Given the description of an element on the screen output the (x, y) to click on. 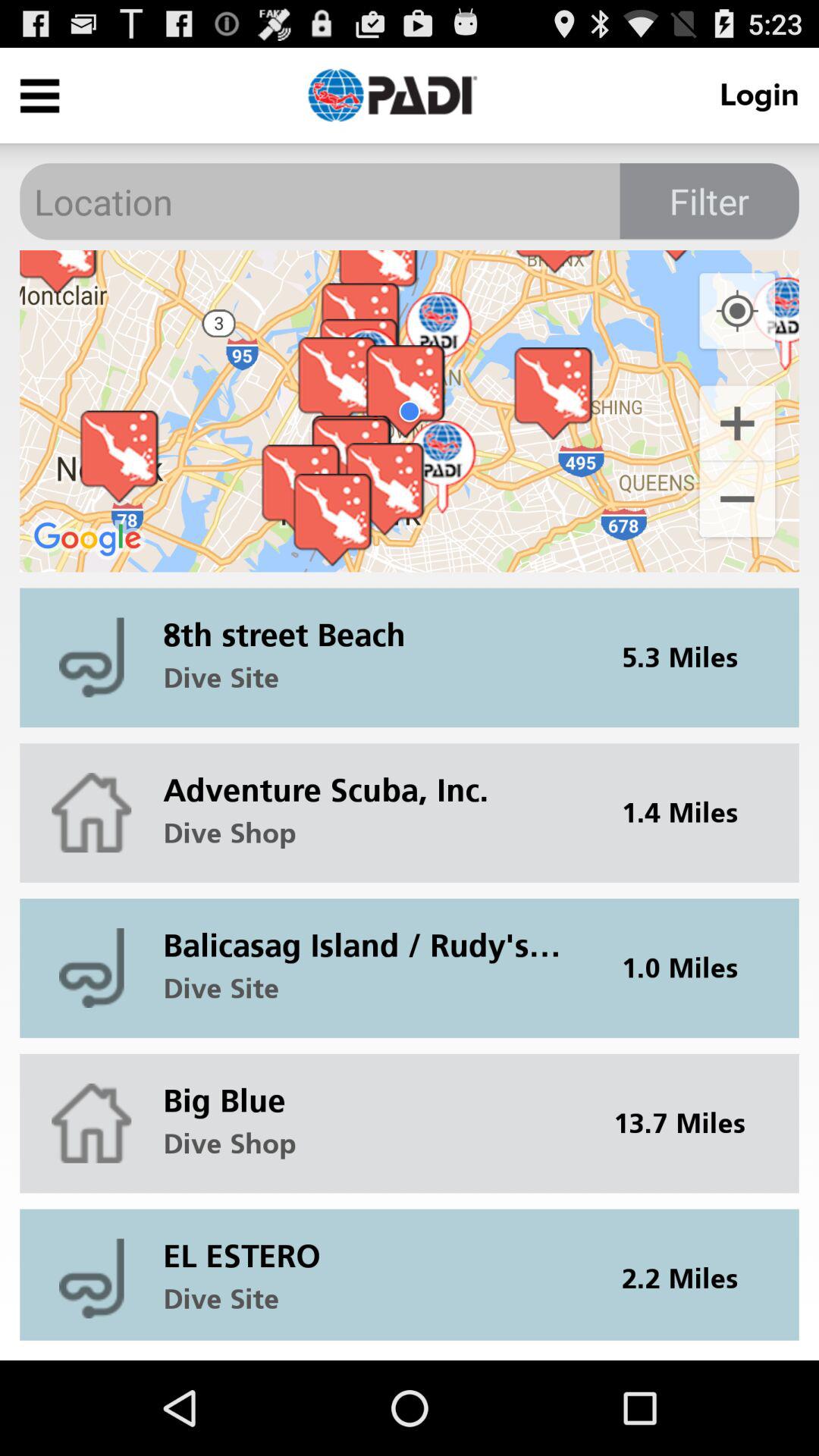
launch the icon below the dive site icon (371, 778)
